Given the description of an element on the screen output the (x, y) to click on. 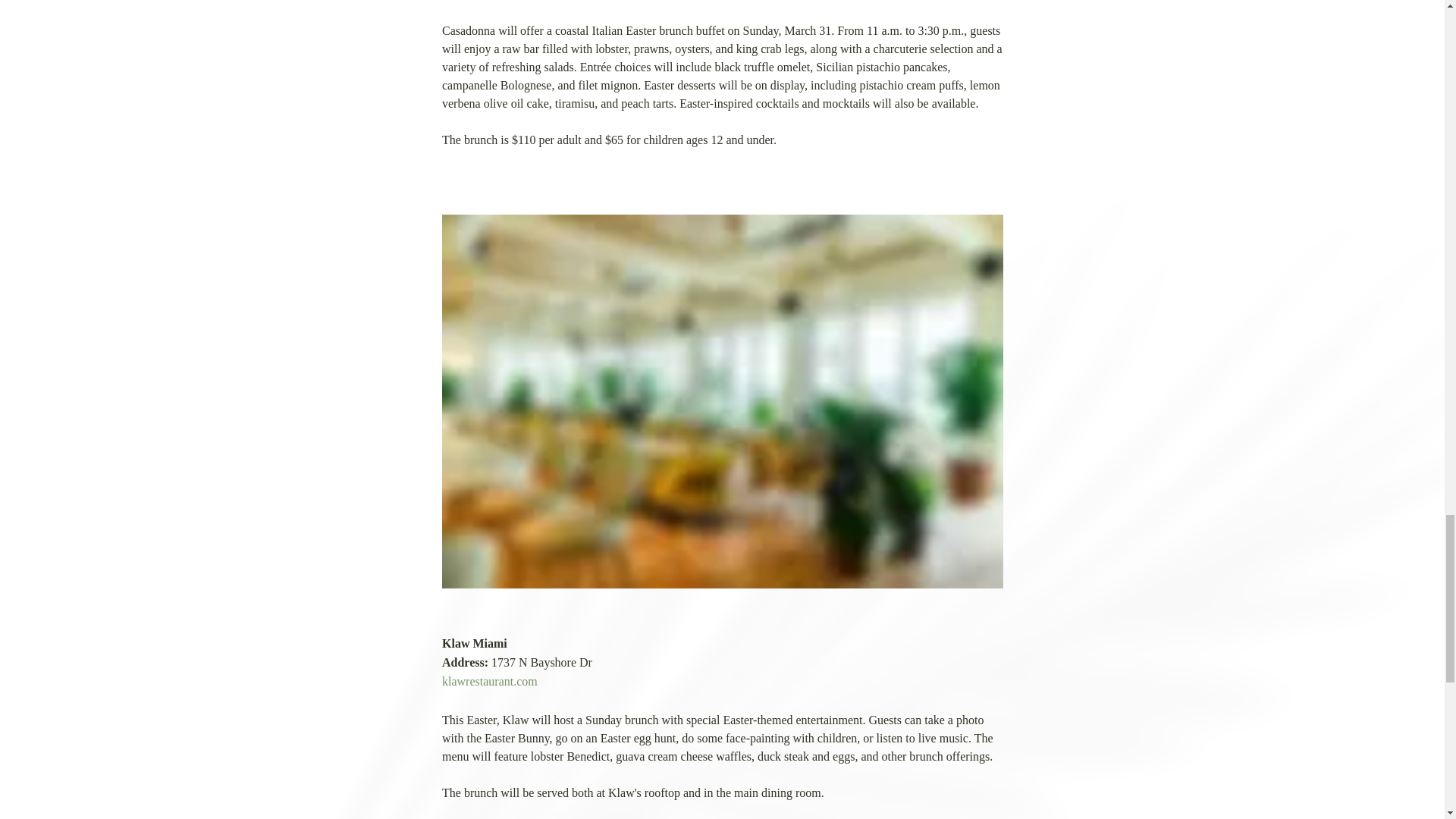
klawrestaurant.com (489, 680)
